Given the description of an element on the screen output the (x, y) to click on. 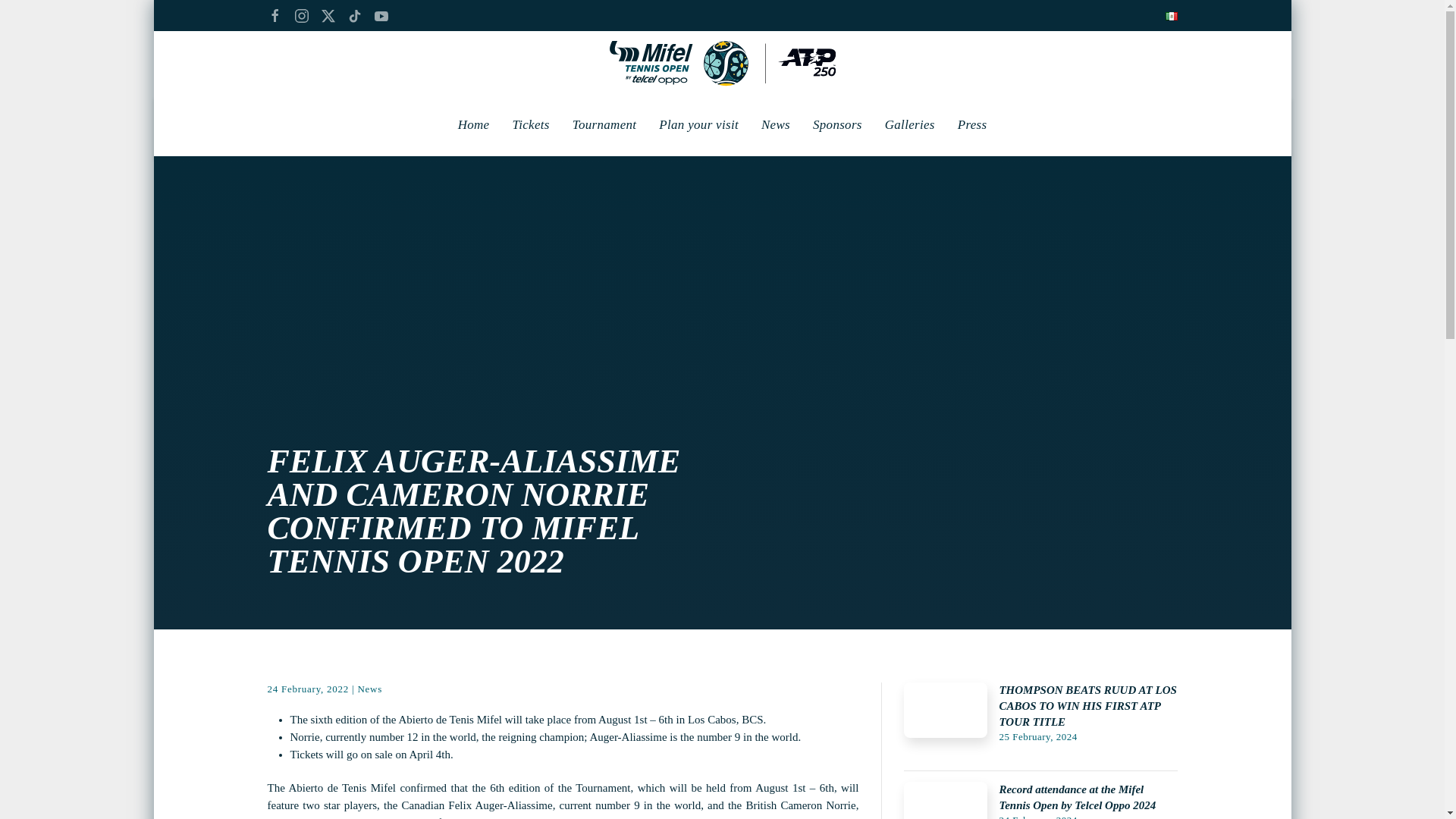
Home (473, 125)
